Given the description of an element on the screen output the (x, y) to click on. 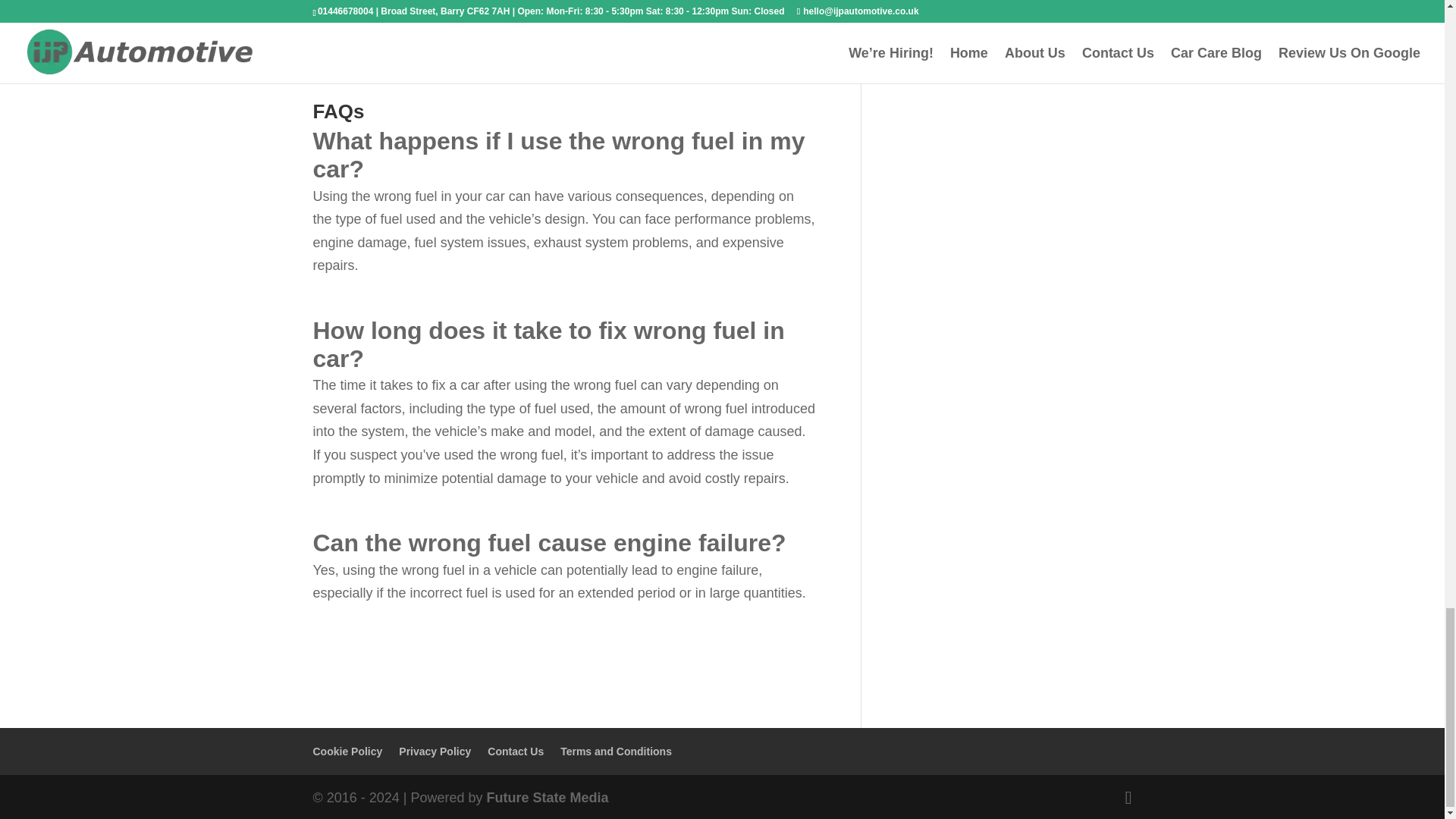
Terms and Conditions (615, 751)
Privacy Policy (434, 751)
Contact Us (515, 751)
Cookie Policy (347, 751)
